Given the description of an element on the screen output the (x, y) to click on. 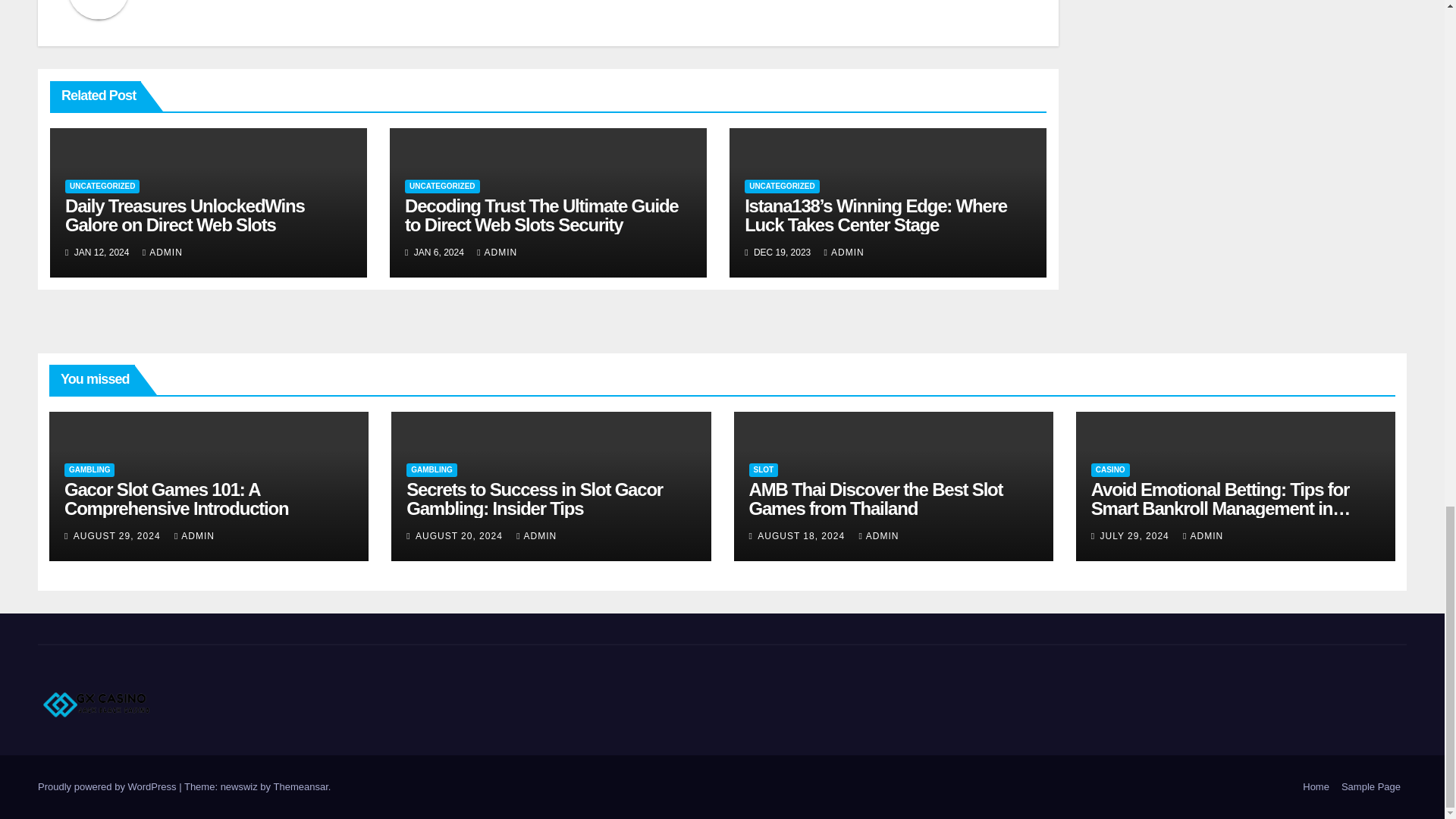
ADMIN (496, 252)
UNCATEGORIZED (781, 186)
Daily Treasures UnlockedWins Galore on Direct Web Slots (184, 215)
ADMIN (162, 252)
UNCATEGORIZED (441, 186)
UNCATEGORIZED (102, 186)
